Given the description of an element on the screen output the (x, y) to click on. 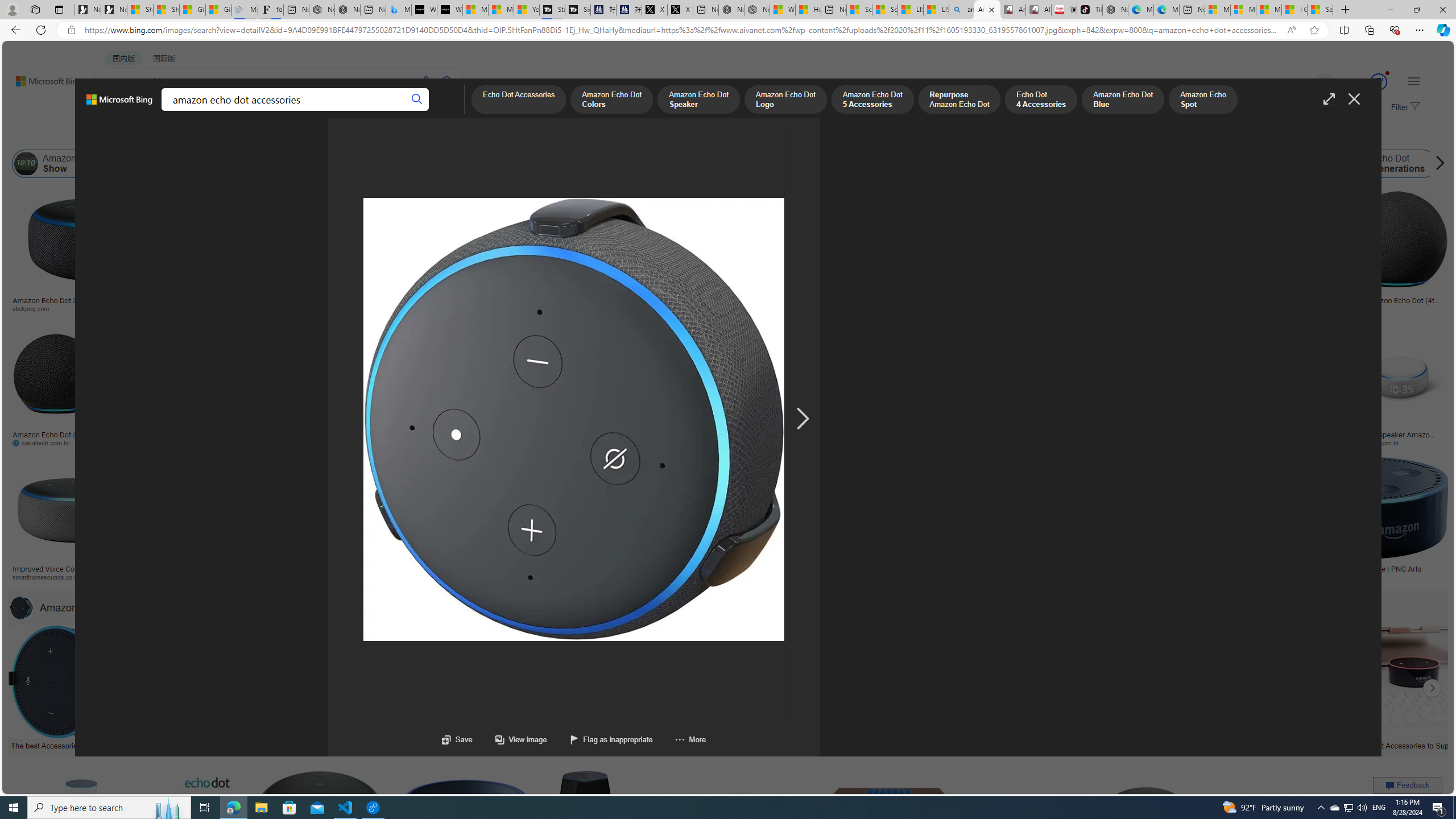
Type (212, 135)
What's the best AI voice generator? - voice.ai (449, 9)
View image (521, 739)
Amazon Echo Dot 3rd (371, 163)
Amazon Echo Dot With Clock Review | Security.org (249, 568)
Alexa Dot Transparent Image | PNG Arts (1356, 568)
Streaming Coverage | T3 (551, 9)
amazon.com.mx (1003, 442)
Amazon Echo Dot PNG transparente - StickPNG (349, 303)
inpower.com.br (1399, 442)
Flag as inappropriate (610, 739)
